Given the description of an element on the screen output the (x, y) to click on. 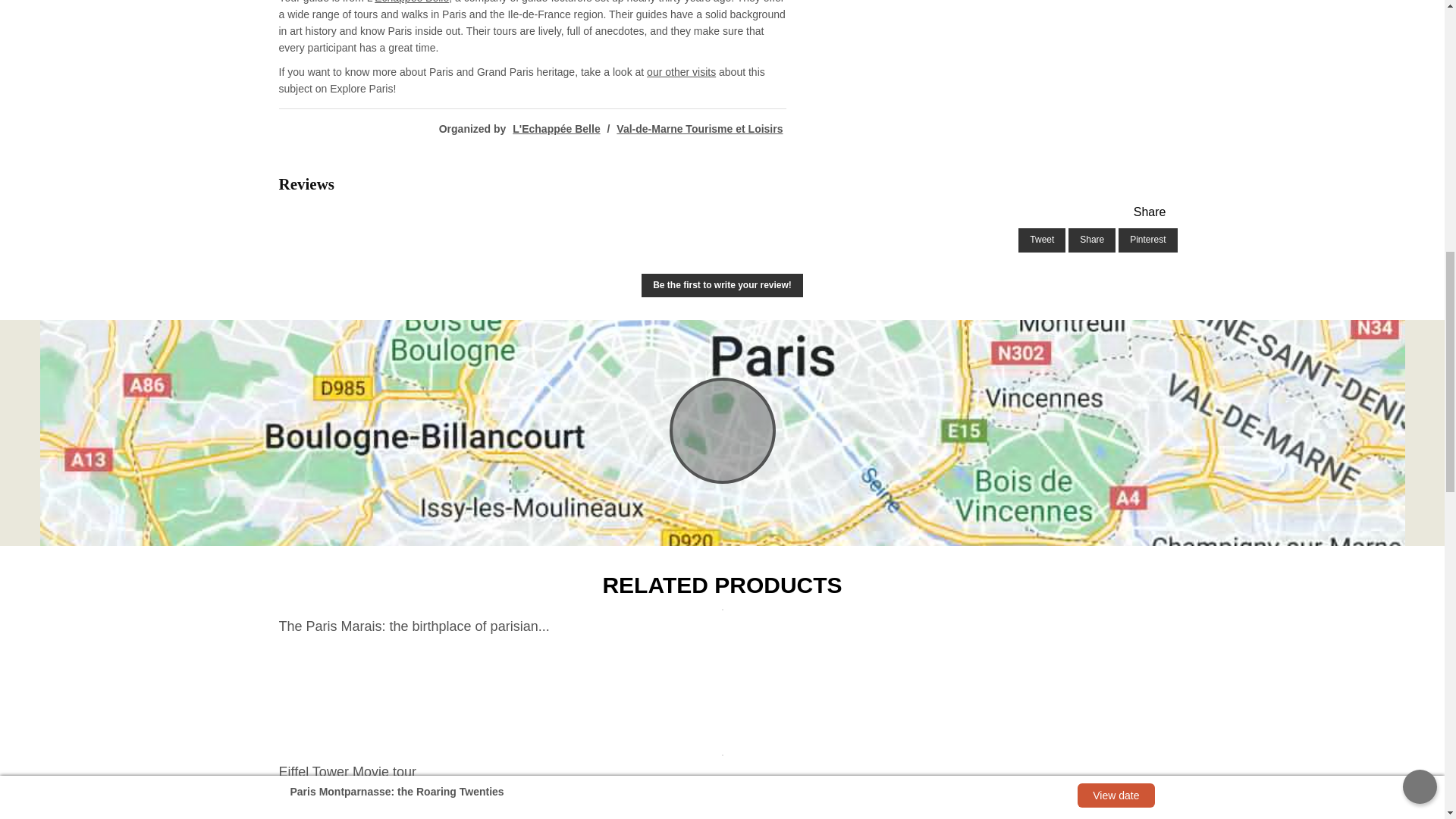
Tweet (1041, 239)
Val-de-Marne Tourisme et Loisirs (699, 128)
Share (1091, 239)
our other visits (681, 71)
